Given the description of an element on the screen output the (x, y) to click on. 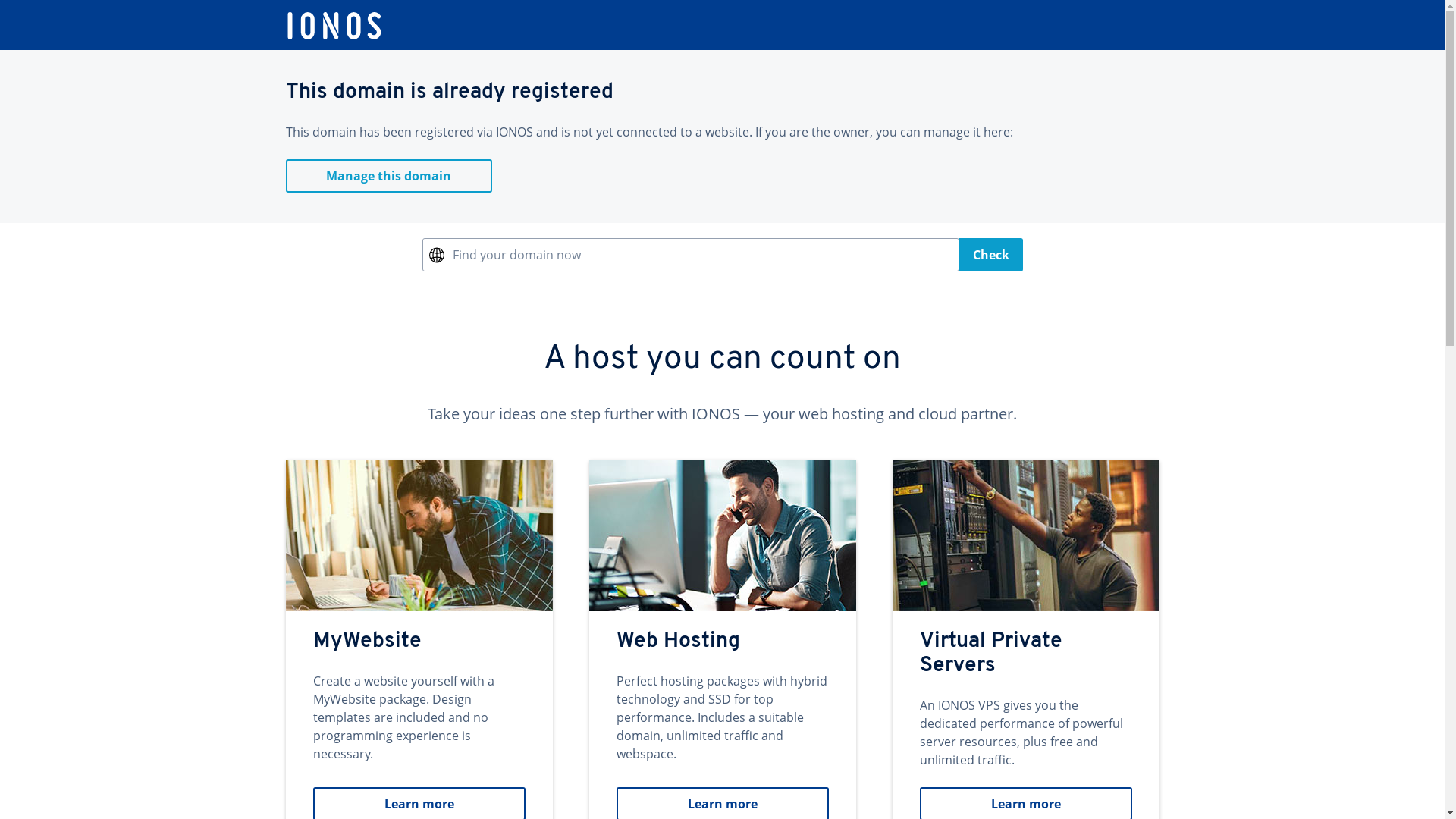
Check Element type: text (990, 254)
Manage this domain Element type: text (388, 175)
